Given the description of an element on the screen output the (x, y) to click on. 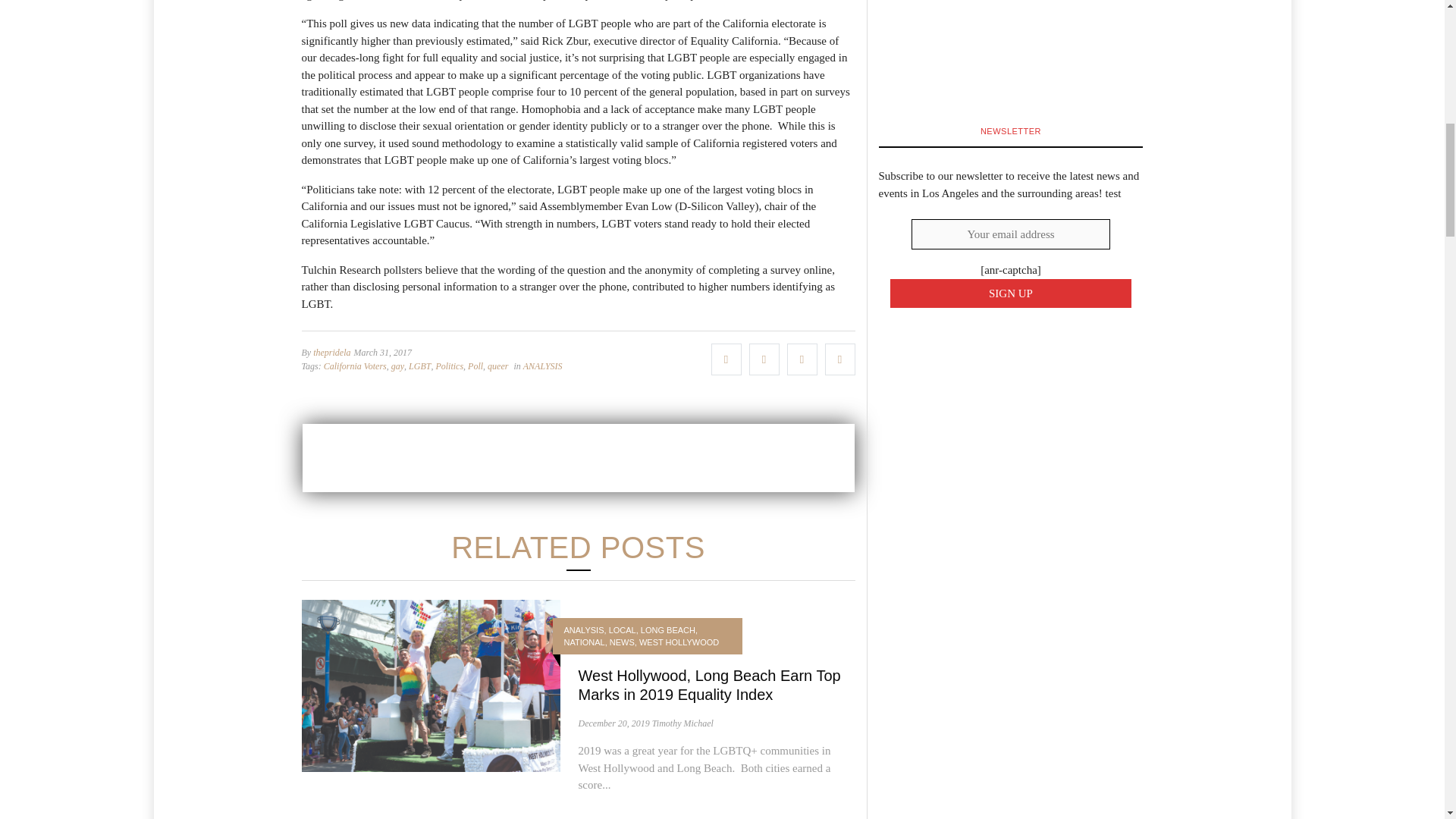
Posts by thepridela (331, 352)
3rd party ad content (577, 458)
LGBT (419, 366)
Posts by Timothy Michael (682, 723)
gay (397, 366)
thepridela (331, 352)
Sign up (1010, 293)
California Voters (355, 366)
